Given the description of an element on the screen output the (x, y) to click on. 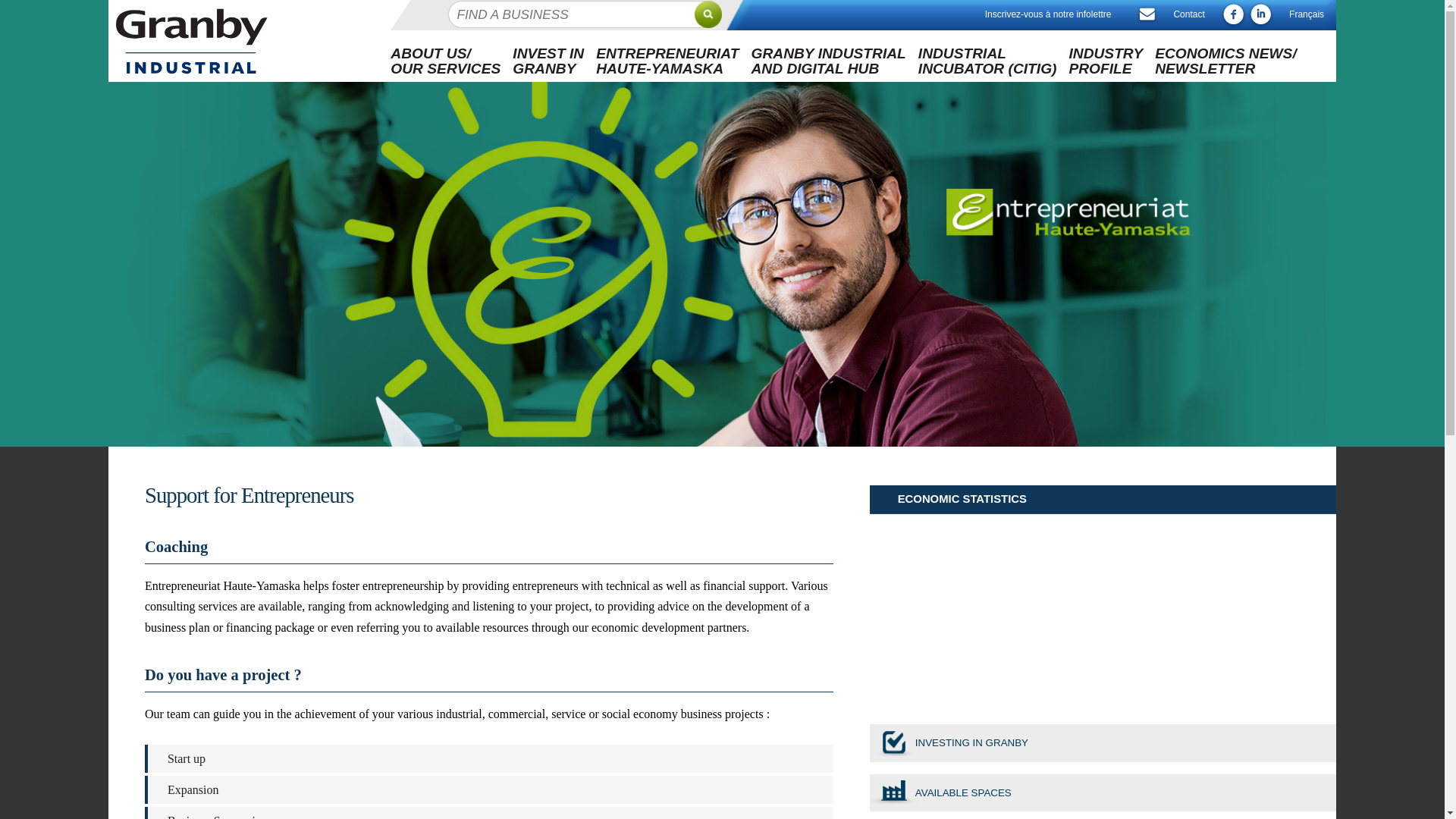
Search (827, 60)
Search (715, 14)
Contact (1105, 60)
